Given the description of an element on the screen output the (x, y) to click on. 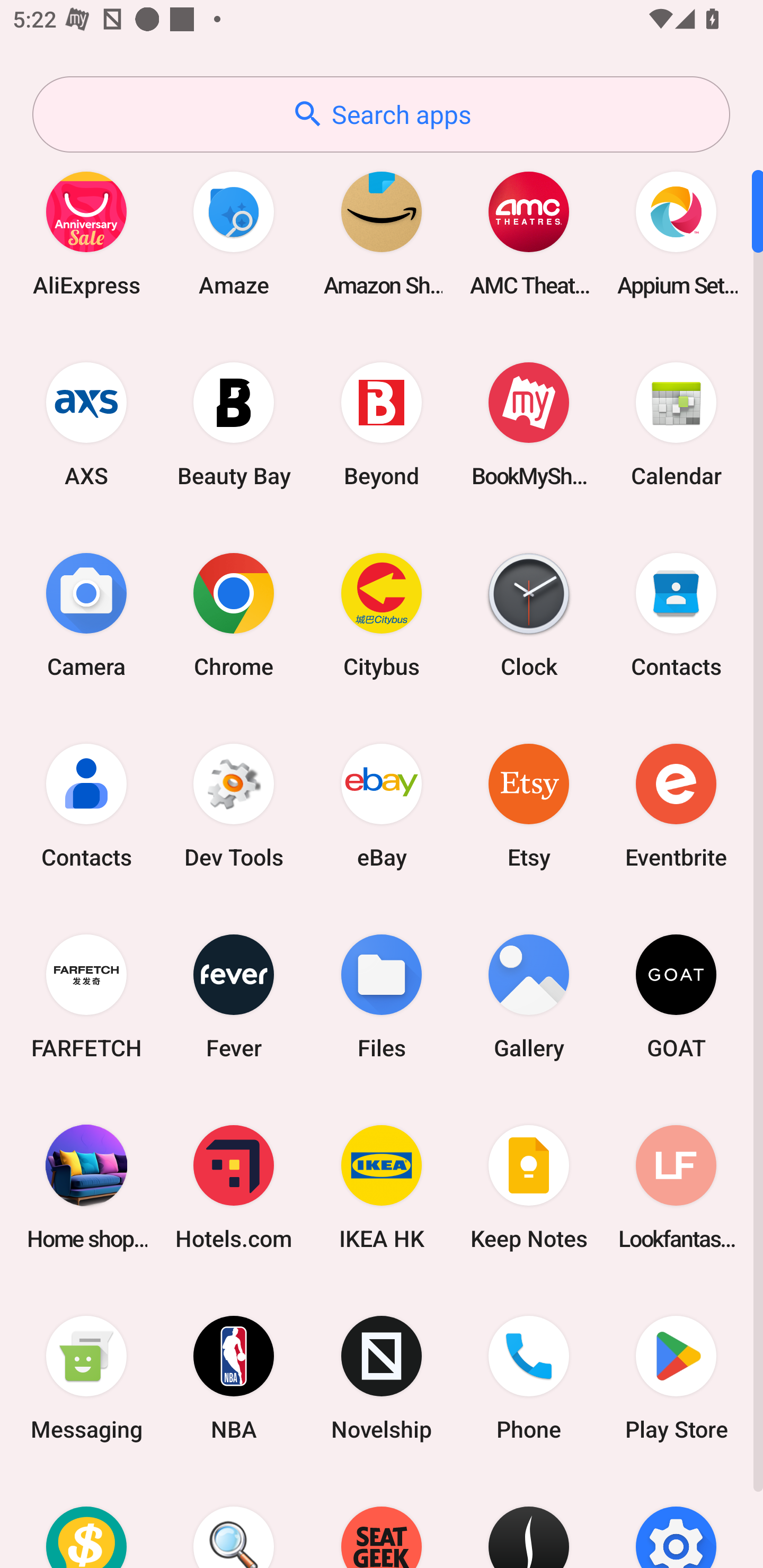
  Search apps (381, 114)
AliExpress (86, 233)
Amaze (233, 233)
Amazon Shopping (381, 233)
AMC Theatres (528, 233)
Appium Settings (676, 233)
AXS (86, 424)
Beauty Bay (233, 424)
Beyond (381, 424)
BookMyShow (528, 424)
Calendar (676, 424)
Camera (86, 614)
Chrome (233, 614)
Citybus (381, 614)
Clock (528, 614)
Contacts (676, 614)
Contacts (86, 805)
Dev Tools (233, 805)
eBay (381, 805)
Etsy (528, 805)
Eventbrite (676, 805)
FARFETCH (86, 996)
Fever (233, 996)
Files (381, 996)
Gallery (528, 996)
GOAT (676, 996)
Home shopping (86, 1186)
Hotels.com (233, 1186)
IKEA HK (381, 1186)
Keep Notes (528, 1186)
Lookfantastic (676, 1186)
Messaging (86, 1377)
NBA (233, 1377)
Novelship (381, 1377)
Phone (528, 1377)
Play Store (676, 1377)
Price (86, 1520)
Search (233, 1520)
SeatGeek (381, 1520)
Sephora (528, 1520)
Settings (676, 1520)
